Given the description of an element on the screen output the (x, y) to click on. 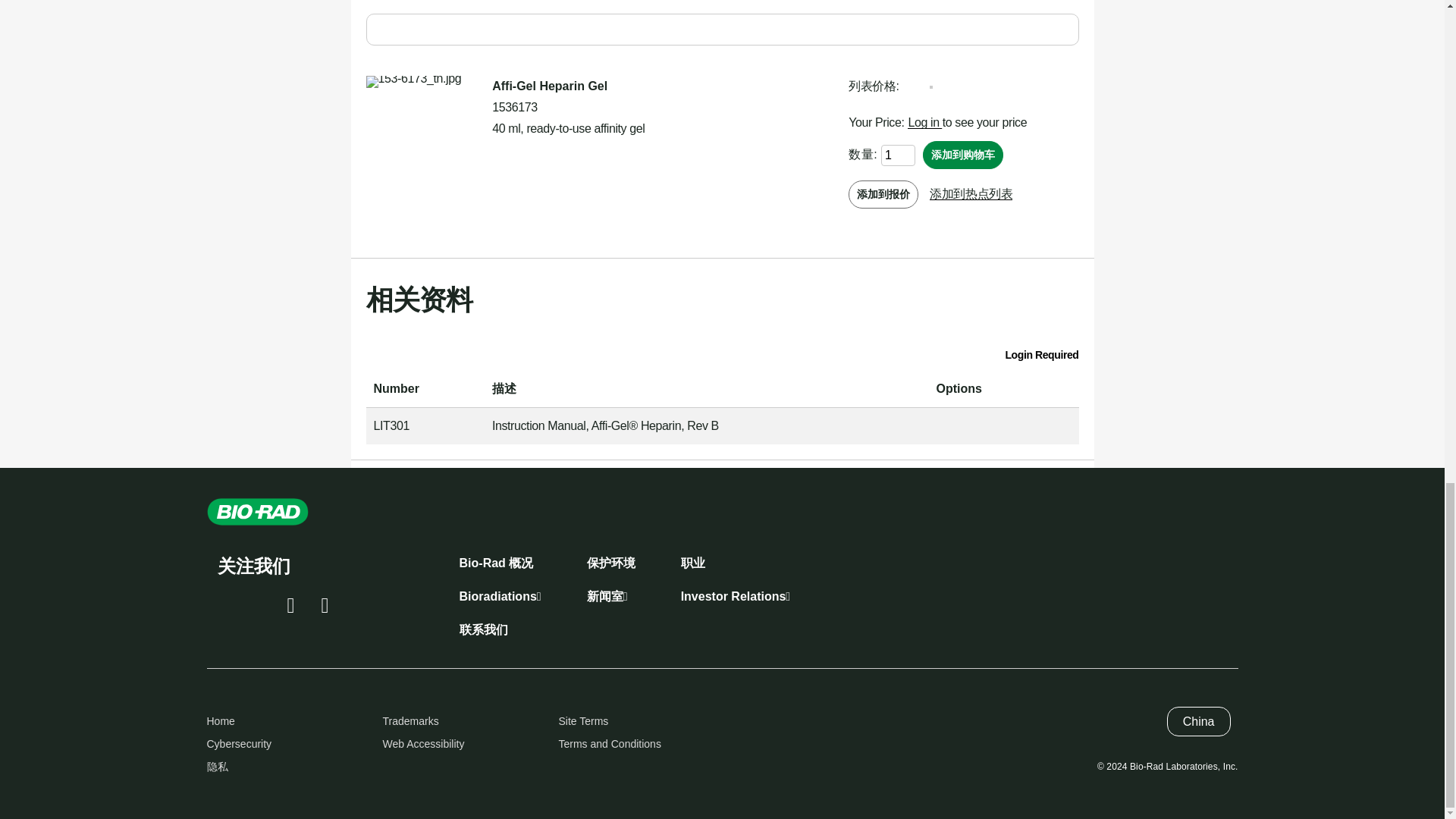
1 (897, 154)
